Given the description of an element on the screen output the (x, y) to click on. 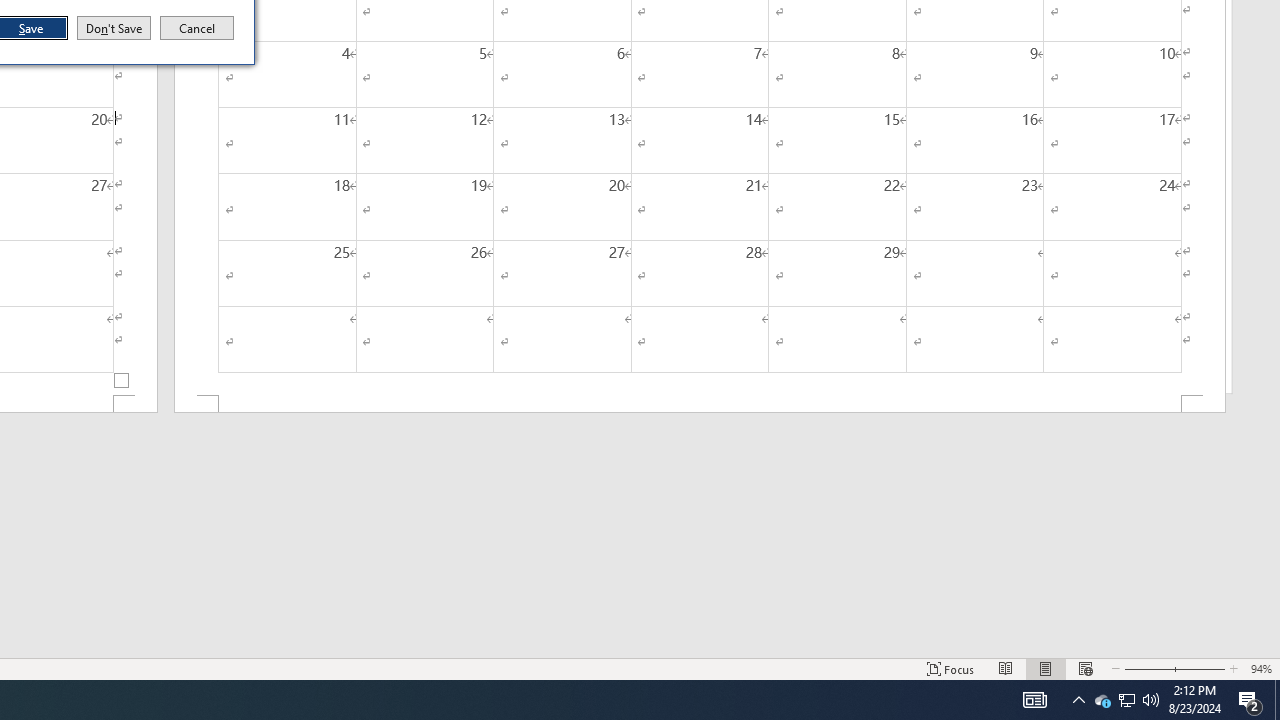
Footer -Section 2- (700, 404)
Cancel (197, 27)
